Given the description of an element on the screen output the (x, y) to click on. 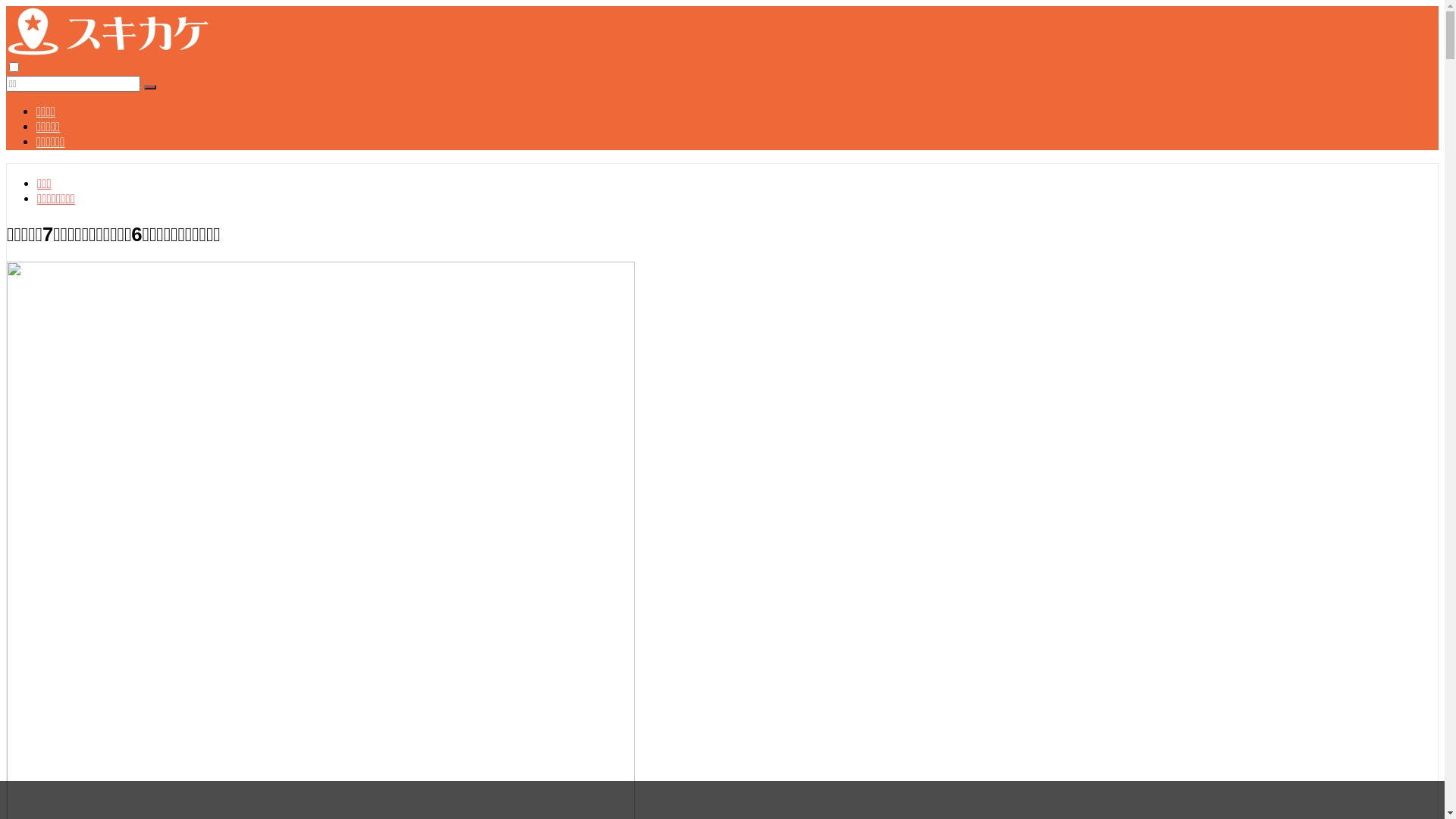
on Element type: text (13, 67)
